Given the description of an element on the screen output the (x, y) to click on. 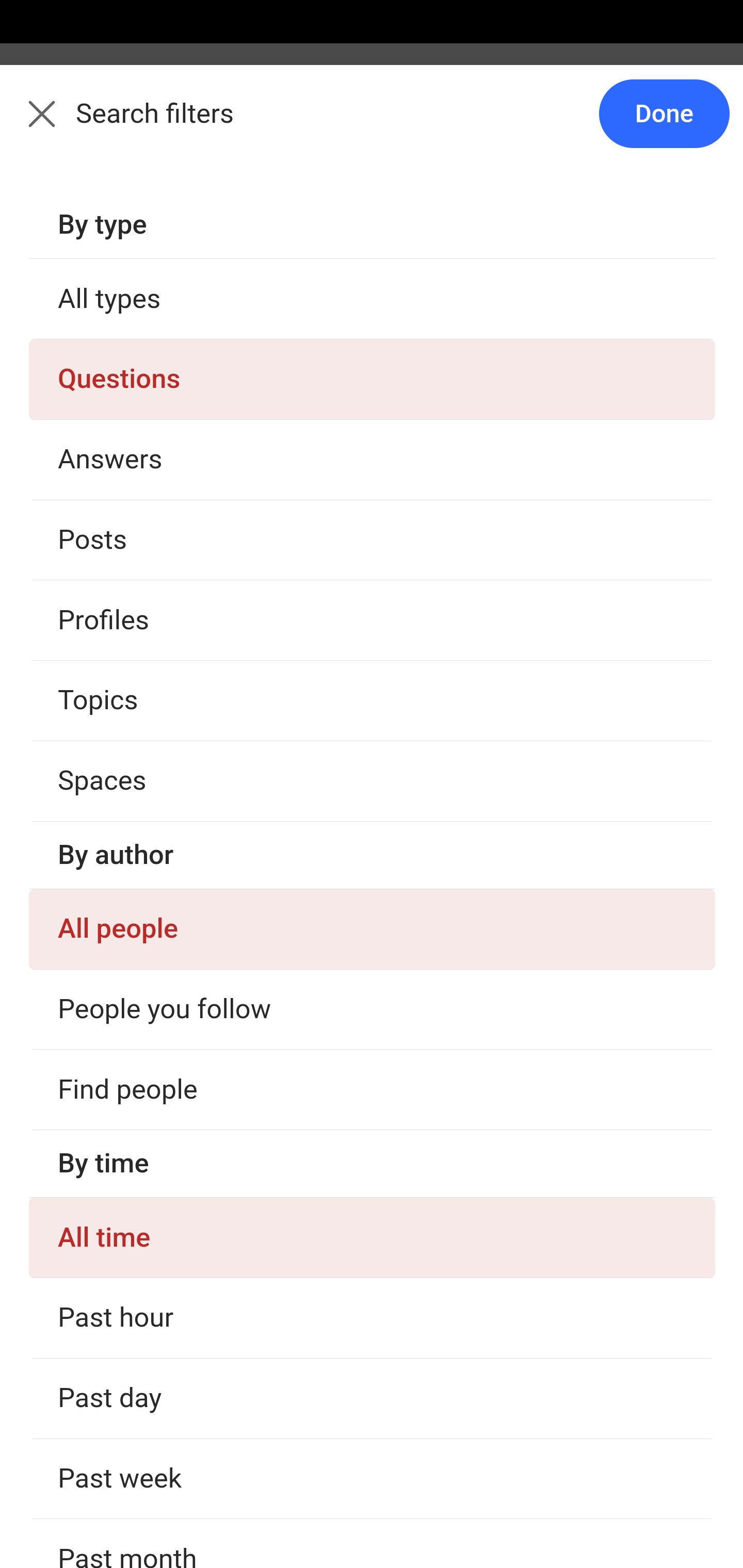
Back Search (371, 125)
Back (30, 125)
Answer (125, 387)
Answer (125, 626)
Answer (125, 1022)
172 answers 172  answers (90, 1163)
